Given the description of an element on the screen output the (x, y) to click on. 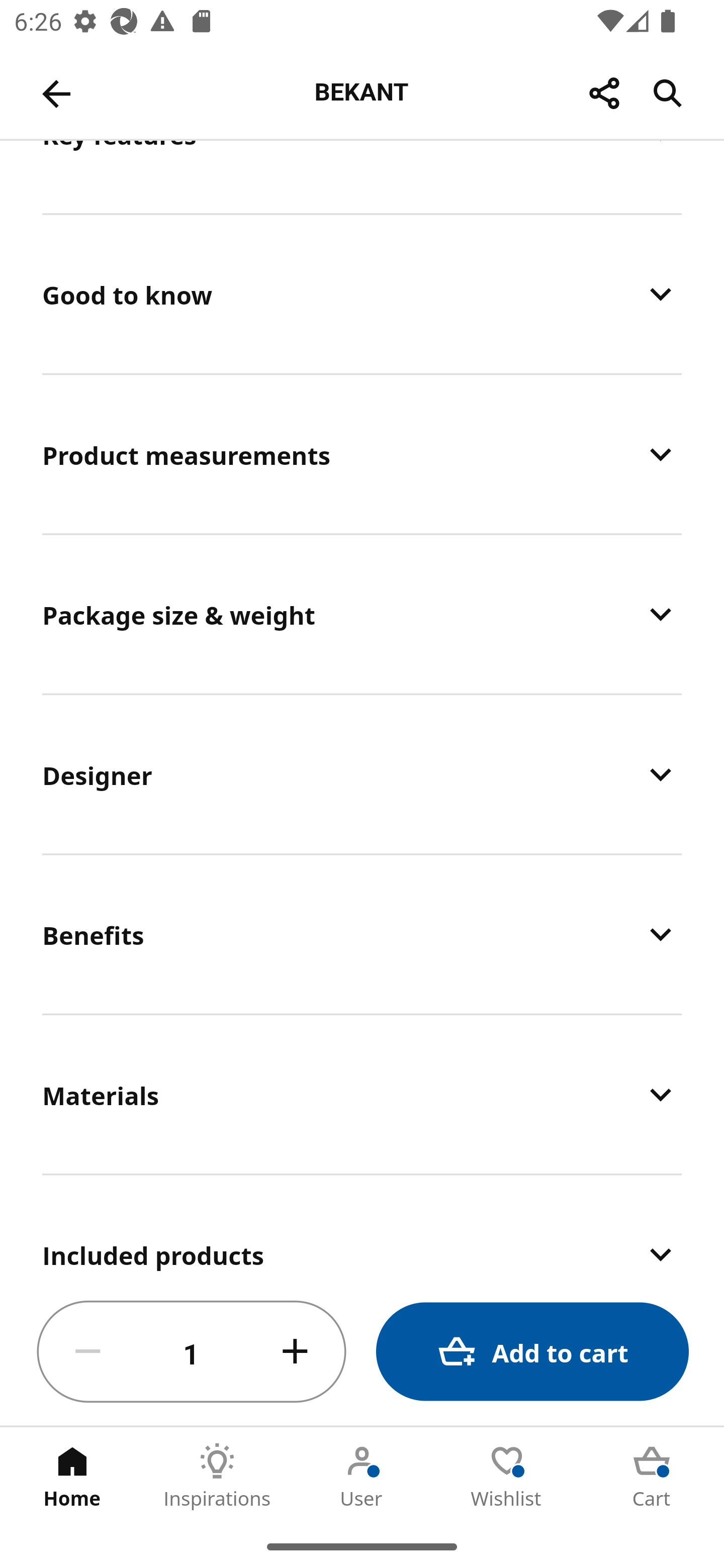
Good to know (361, 293)
Product measurements (361, 453)
Package size & weight (361, 613)
Designer (361, 774)
Benefits (361, 933)
Materials (361, 1094)
Included products (361, 1227)
Add to cart (531, 1352)
1 (191, 1352)
Home
Tab 1 of 5 (72, 1476)
Inspirations
Tab 2 of 5 (216, 1476)
User
Tab 3 of 5 (361, 1476)
Wishlist
Tab 4 of 5 (506, 1476)
Cart
Tab 5 of 5 (651, 1476)
